Given the description of an element on the screen output the (x, y) to click on. 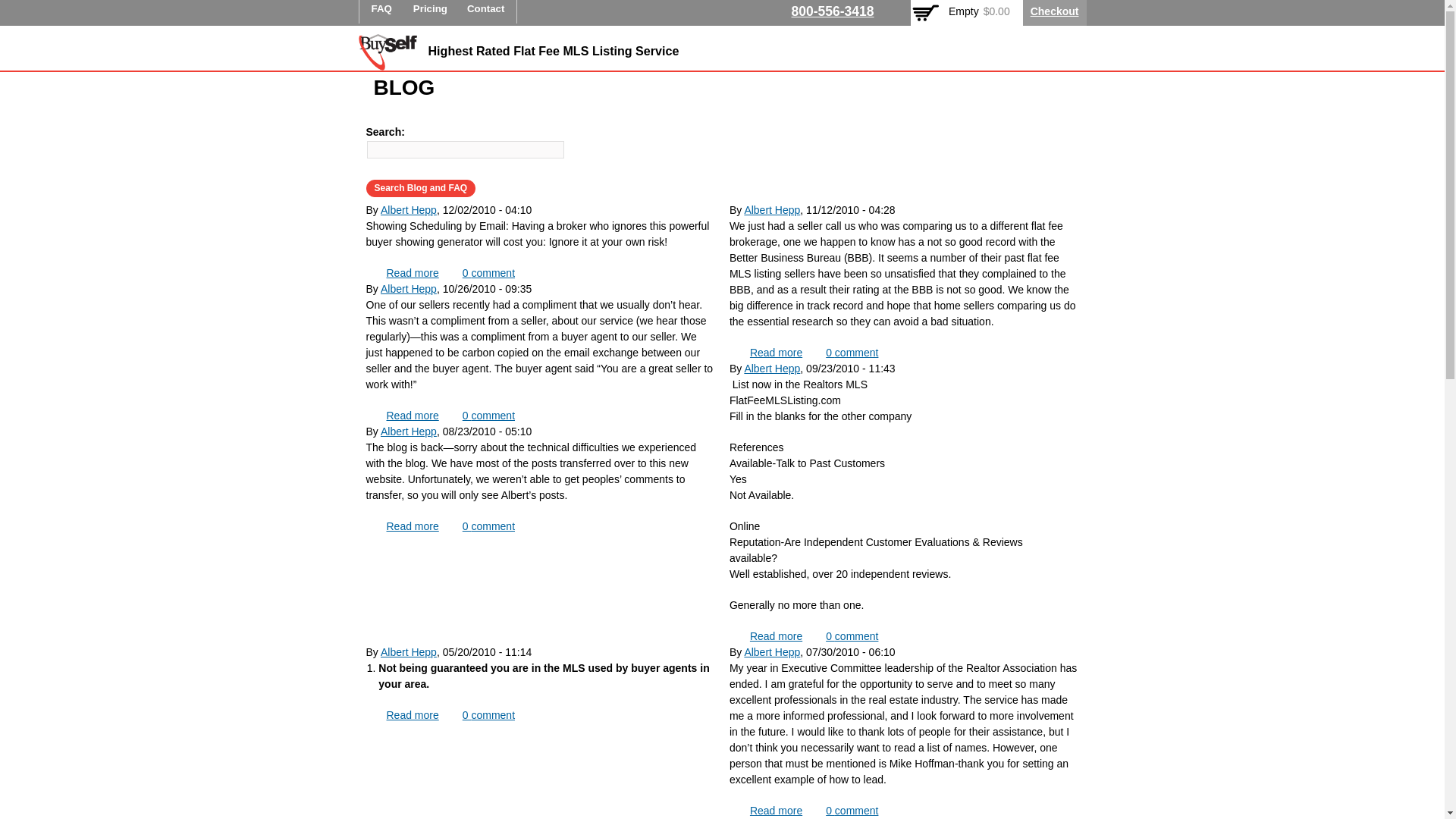
Albert Hepp completes service as Realtor Association Chair (413, 526)
View user profile. (775, 810)
Albert Hepp (408, 209)
0 comment (408, 652)
0 comment (851, 810)
View user profile. (489, 715)
Contact (408, 431)
View user profile. (486, 11)
Albert Hepp (771, 652)
Be the first to add a comment (408, 431)
Be the first to add a comment (851, 352)
Checkout (851, 635)
